Given the description of an element on the screen output the (x, y) to click on. 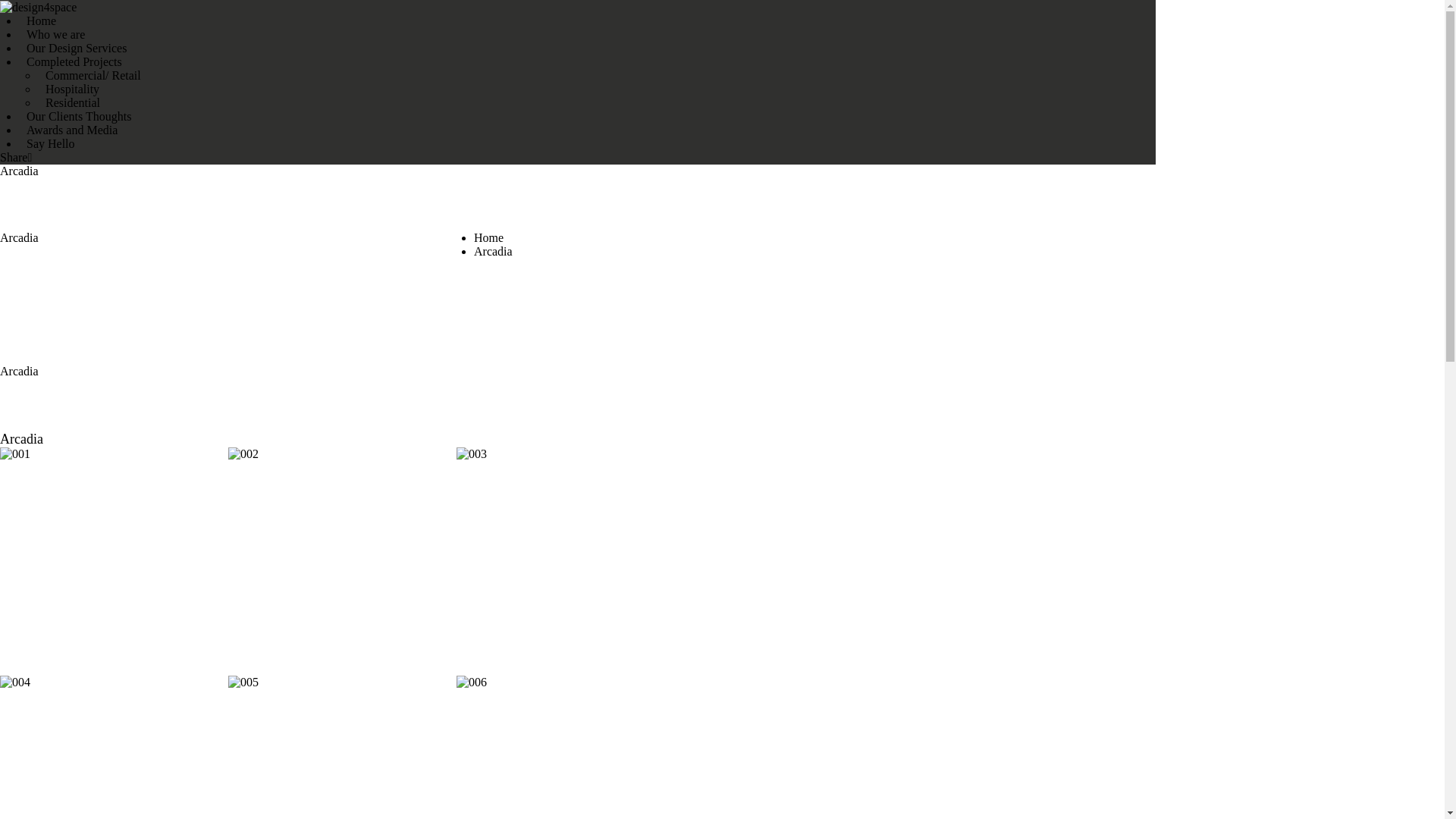
003 Element type: hover (570, 560)
Our Clients Thoughts Element type: text (78, 116)
001 Element type: hover (113, 560)
Awards and Media Element type: text (71, 130)
Our Design Services Element type: text (76, 48)
002 Element type: hover (341, 560)
Home Element type: text (40, 20)
Hospitality Element type: text (71, 89)
Home Element type: text (488, 237)
Residential Element type: text (72, 102)
Completed Projects Element type: text (73, 61)
Who we are Element type: text (55, 34)
Commercial/ Retail Element type: text (92, 75)
Say Hello Element type: text (50, 143)
